Given the description of an element on the screen output the (x, y) to click on. 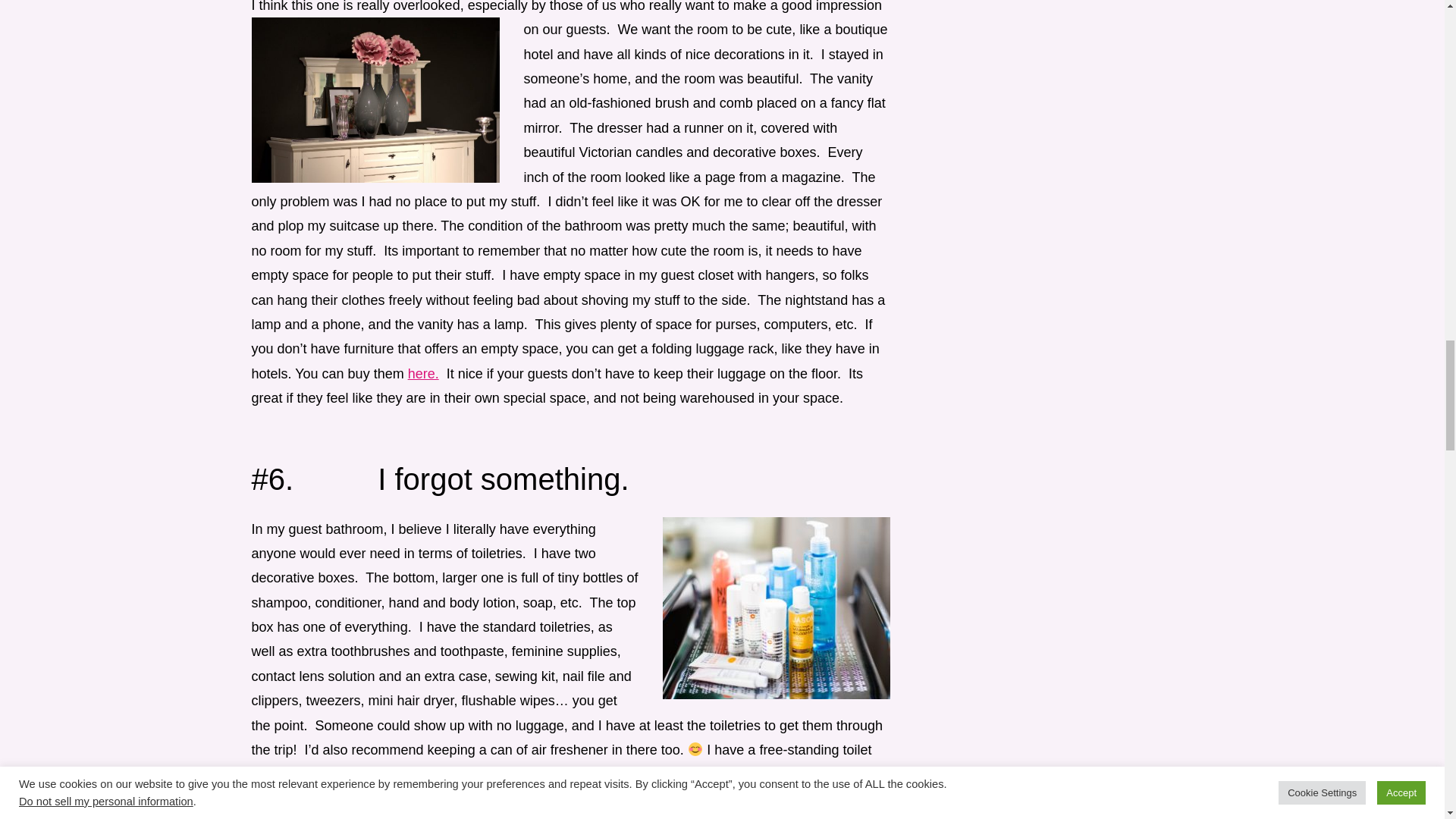
here. (423, 373)
